Given the description of an element on the screen output the (x, y) to click on. 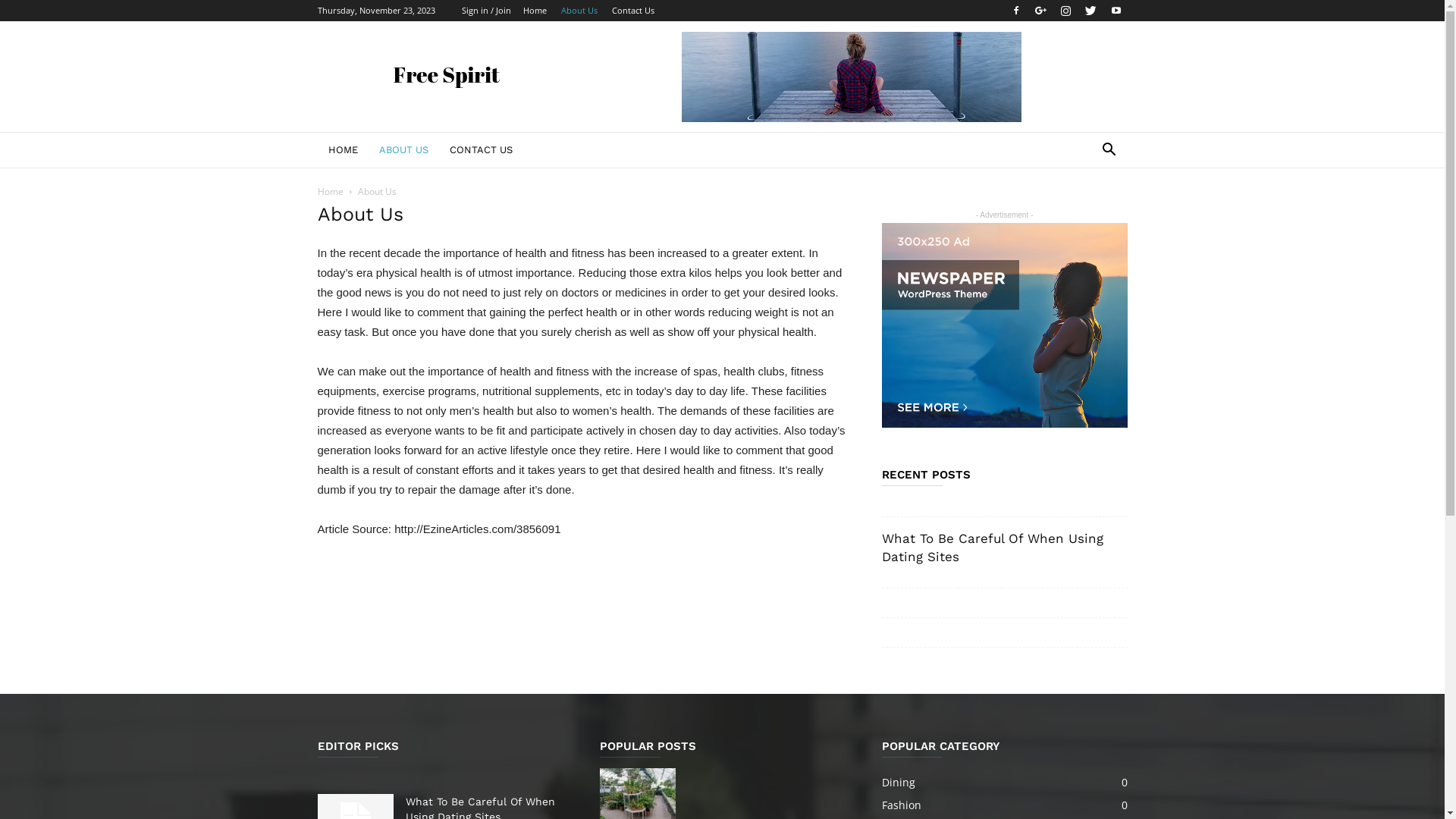
Home Element type: text (329, 191)
Dining
0 Element type: text (897, 782)
Sign in / Join Element type: text (485, 9)
Twitter Element type: hover (1090, 10)
Home Element type: text (534, 9)
ABOUT US Element type: text (403, 149)
Facebook Element type: hover (1015, 10)
What To Be Careful Of When Using Dating Sites Element type: text (991, 547)
CONTACT US Element type: text (480, 149)
Contact Us Element type: text (632, 9)
Google+ Element type: hover (1040, 10)
Fashion
0 Element type: text (900, 804)
Youtube Element type: hover (1115, 10)
Search Element type: text (1085, 210)
About Us Element type: text (579, 9)
HOME Element type: text (341, 149)
Instagram Element type: hover (1065, 10)
